Given the description of an element on the screen output the (x, y) to click on. 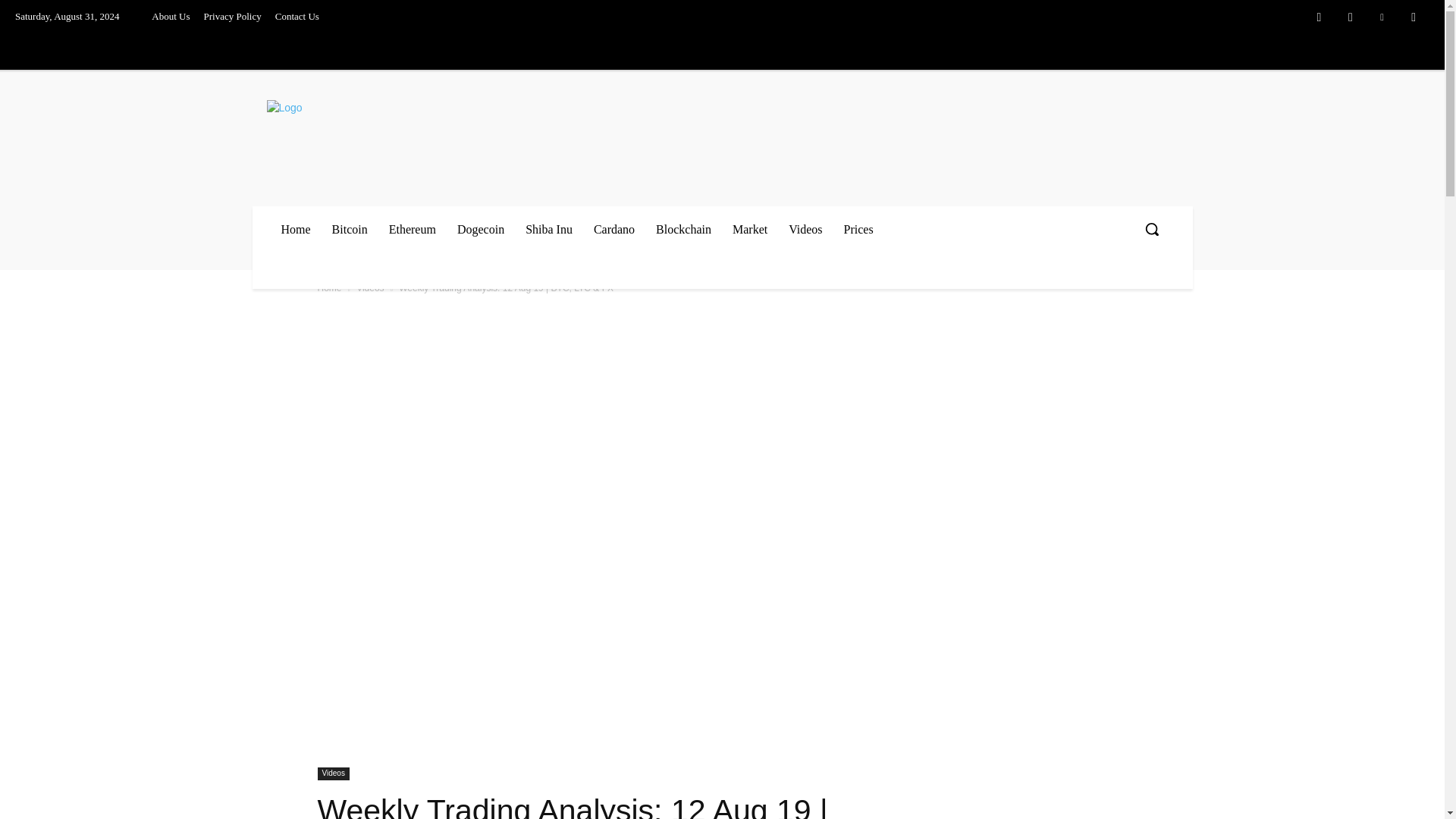
Privacy Policy (231, 16)
Bitcoin (349, 229)
Twitter (1382, 17)
Shiba Inu (549, 229)
Instagram (1351, 17)
Youtube (1413, 17)
Blockchain (683, 229)
View all posts in Videos (370, 287)
About Us (170, 16)
Market (749, 229)
